Given the description of an element on the screen output the (x, y) to click on. 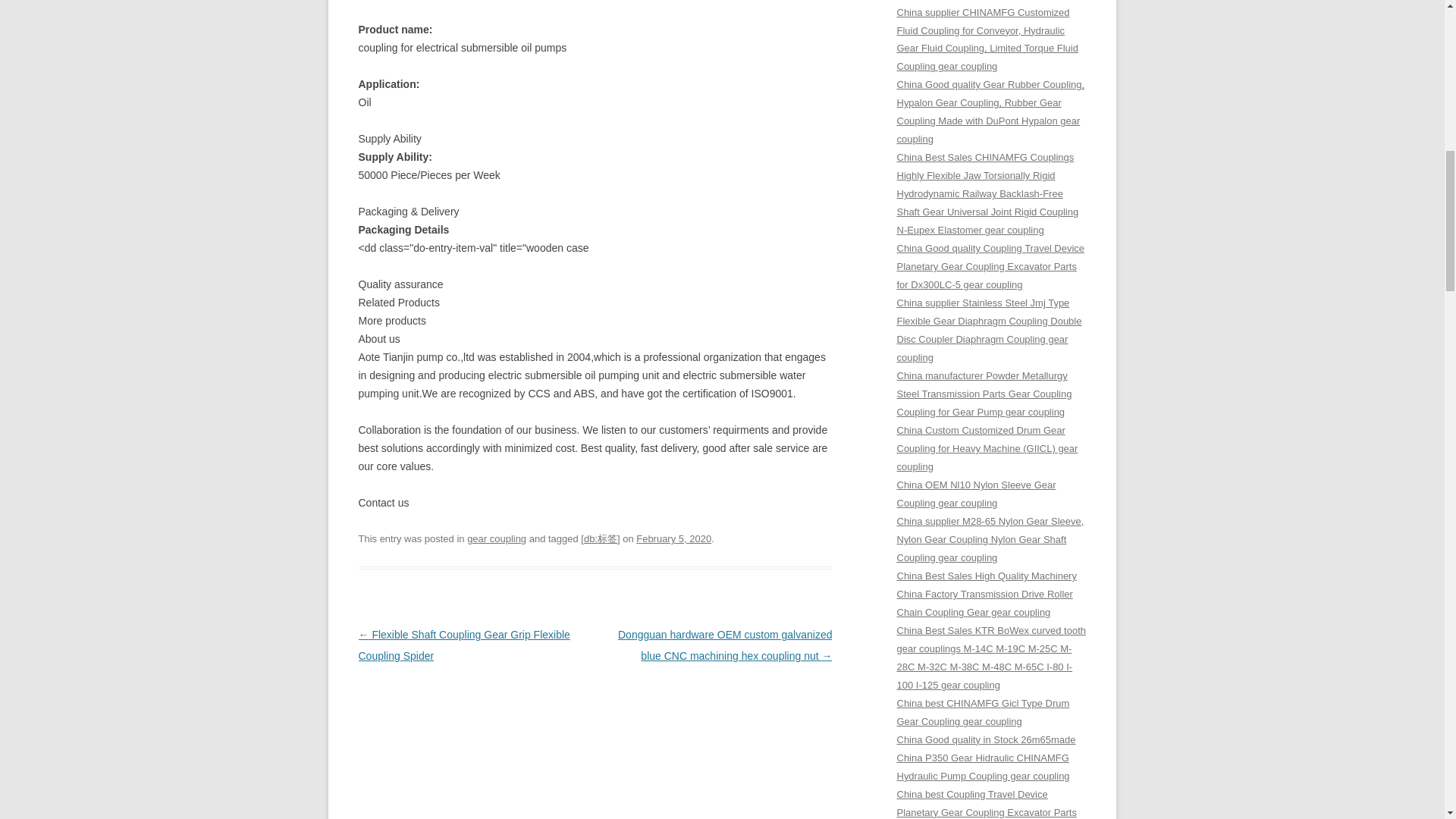
10:10 am (673, 538)
gear coupling (496, 538)
